Given the description of an element on the screen output the (x, y) to click on. 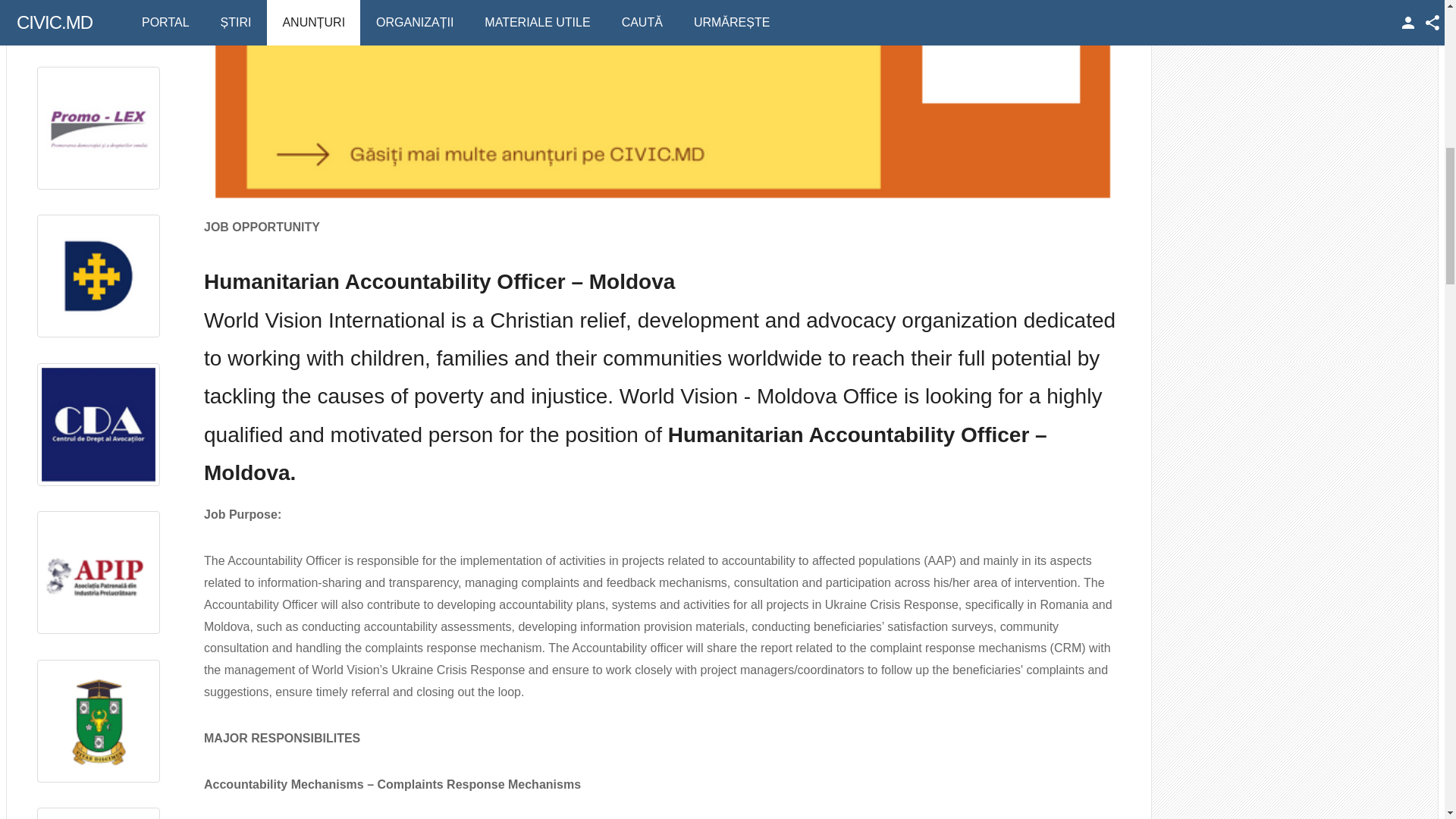
Misiunea Diaconia (98, 275)
Asocia?ia Promo-LEX (98, 127)
Centrul de Drept al Avocatilor (98, 424)
WeWorld Moldova (98, 20)
